Given the description of an element on the screen output the (x, y) to click on. 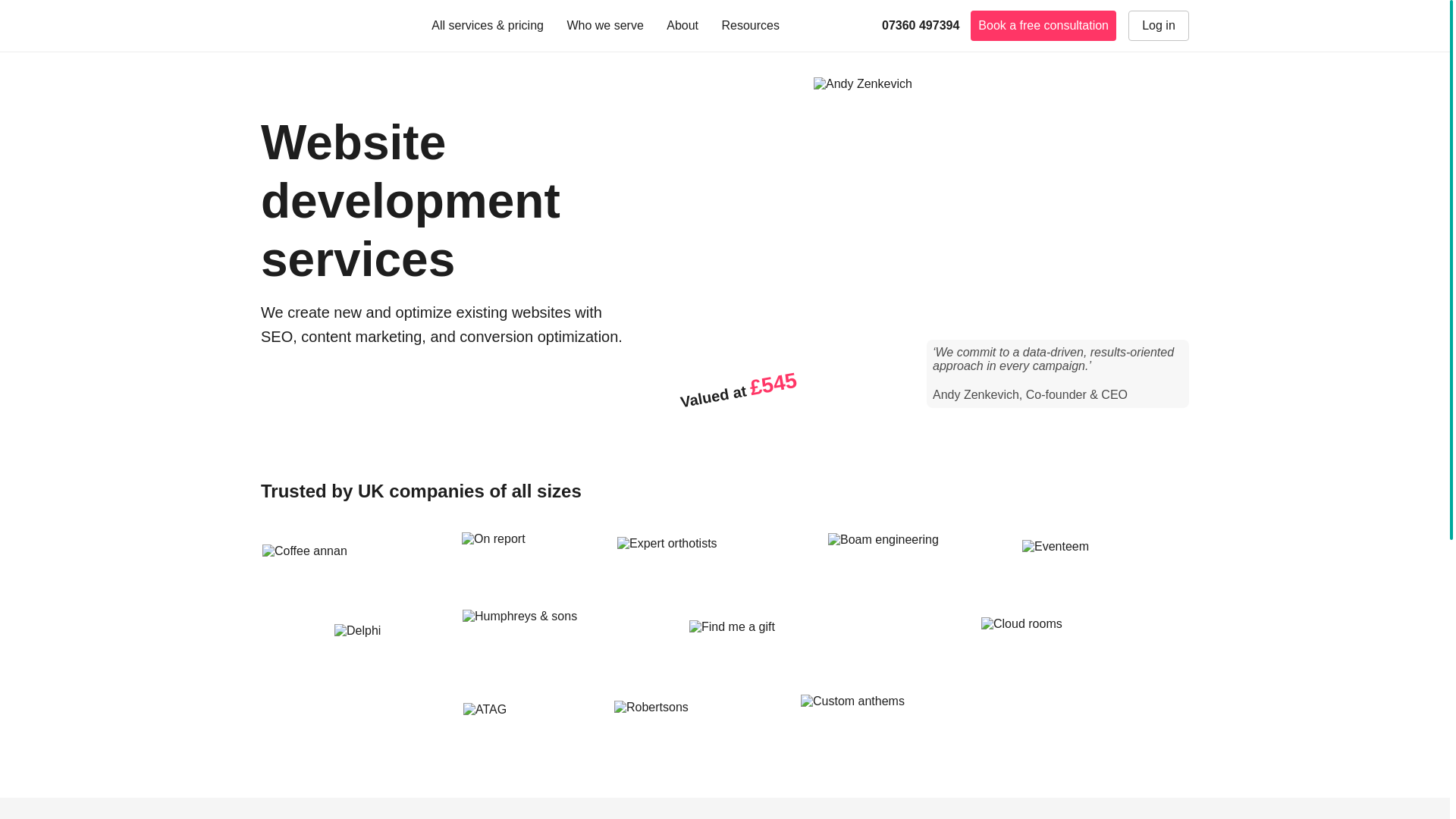
Robertsons (695, 721)
Andy Zenkevich (862, 83)
Expert orthotists (710, 558)
ATAG (526, 721)
On report (526, 558)
Delphi (386, 640)
Who we serve (610, 25)
Find me a gift (822, 639)
Boam engineering (912, 558)
Cloud rooms (1048, 639)
Eventeem (1105, 558)
Custom anthems (893, 721)
Coffee annan (350, 559)
